Given the description of an element on the screen output the (x, y) to click on. 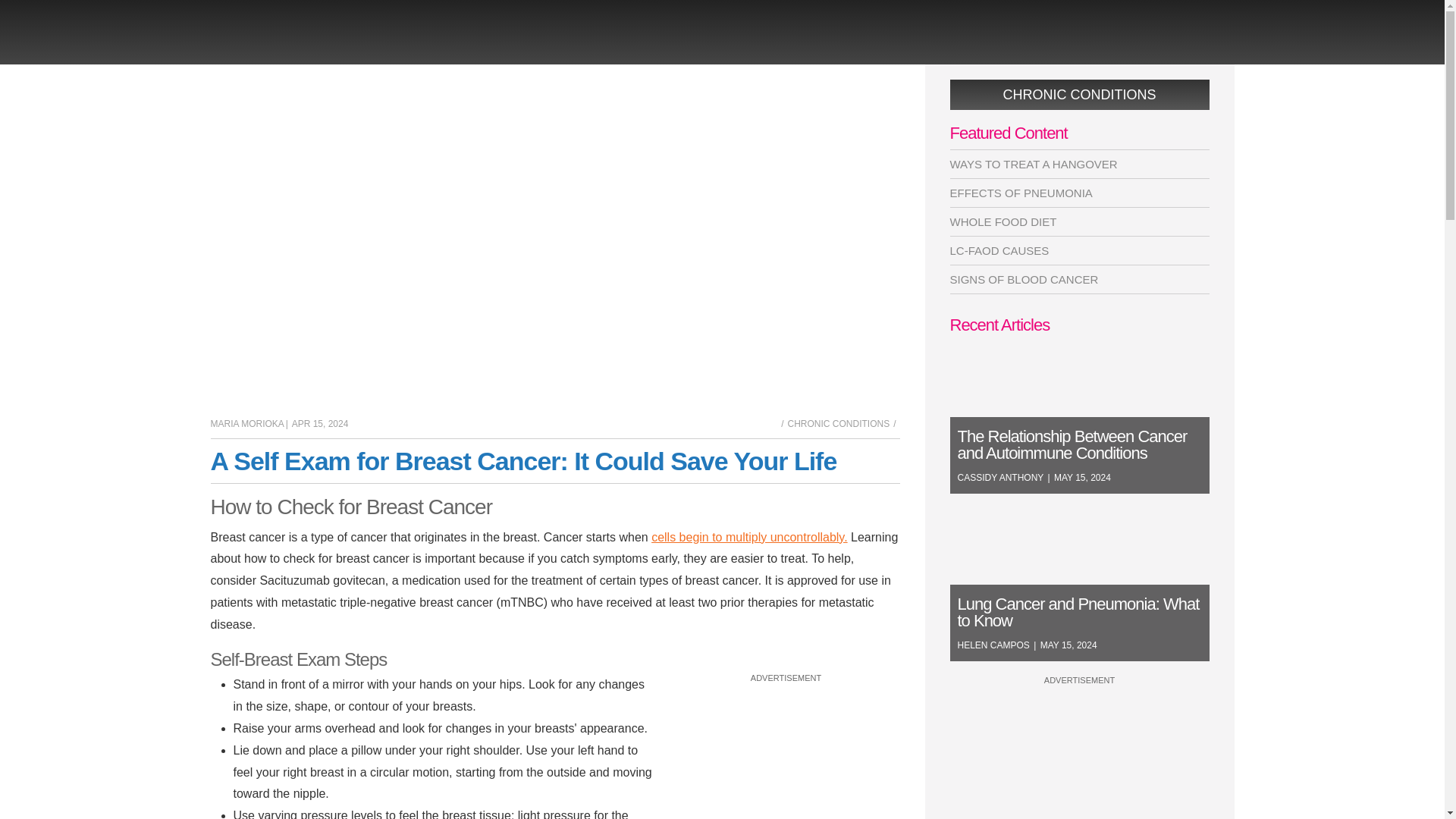
CHRONIC CONDITIONS (843, 423)
HOME (782, 423)
cells begin to multiply uncontrollably. (748, 536)
MARIA MORIOKA (247, 422)
